Given the description of an element on the screen output the (x, y) to click on. 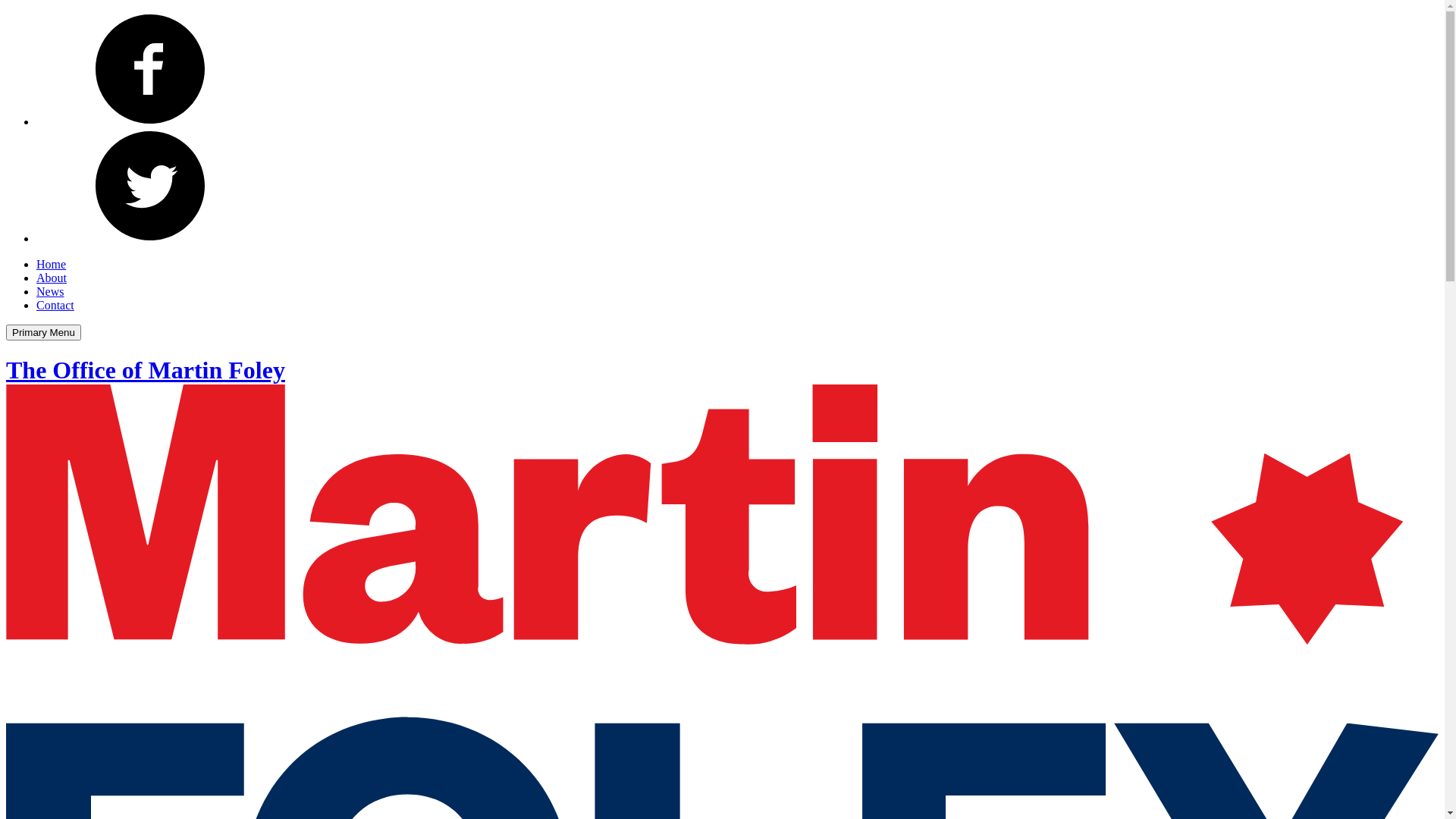
Skip to content Element type: text (5, 11)
Facebook Element type: text (149, 121)
About Element type: text (51, 277)
Contact Element type: text (55, 304)
News Element type: text (49, 291)
Twitter Element type: text (149, 238)
Primary Menu Element type: text (43, 332)
Home Element type: text (50, 263)
